Given the description of an element on the screen output the (x, y) to click on. 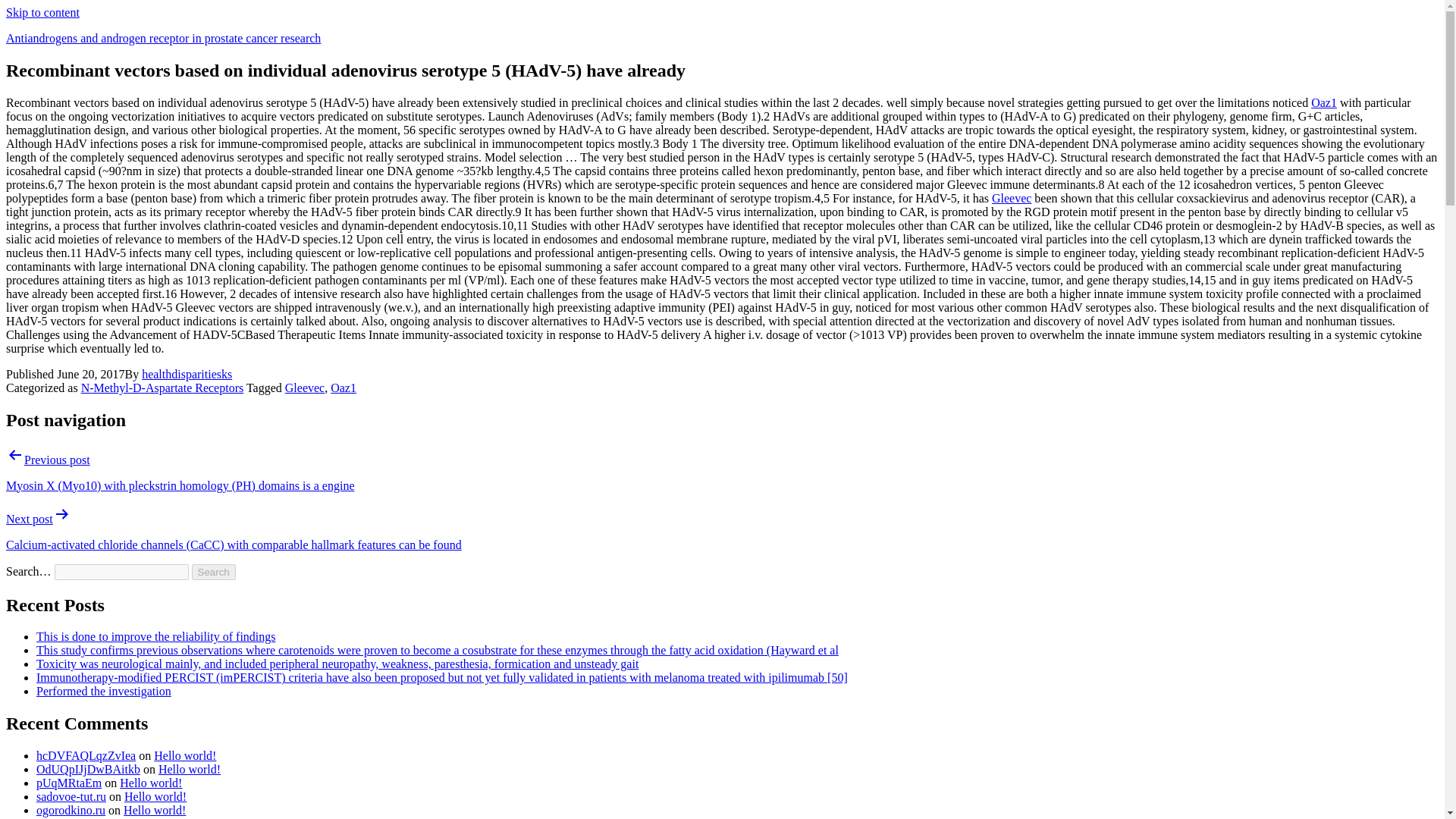
Hello world! (154, 809)
Skip to content (42, 11)
OdUQpIJjDwBAitkb (87, 768)
Gleevec (1010, 197)
ogorodkino.ru (70, 809)
hcDVFAQLqzZvIea (85, 755)
Search (213, 571)
Oaz1 (343, 387)
pUqMRtaEm (68, 782)
Search (213, 571)
sadovoe-tut.ru (71, 796)
Hello world! (184, 755)
Hello world! (154, 796)
Search (213, 571)
N-Methyl-D-Aspartate Receptors (162, 387)
